Given the description of an element on the screen output the (x, y) to click on. 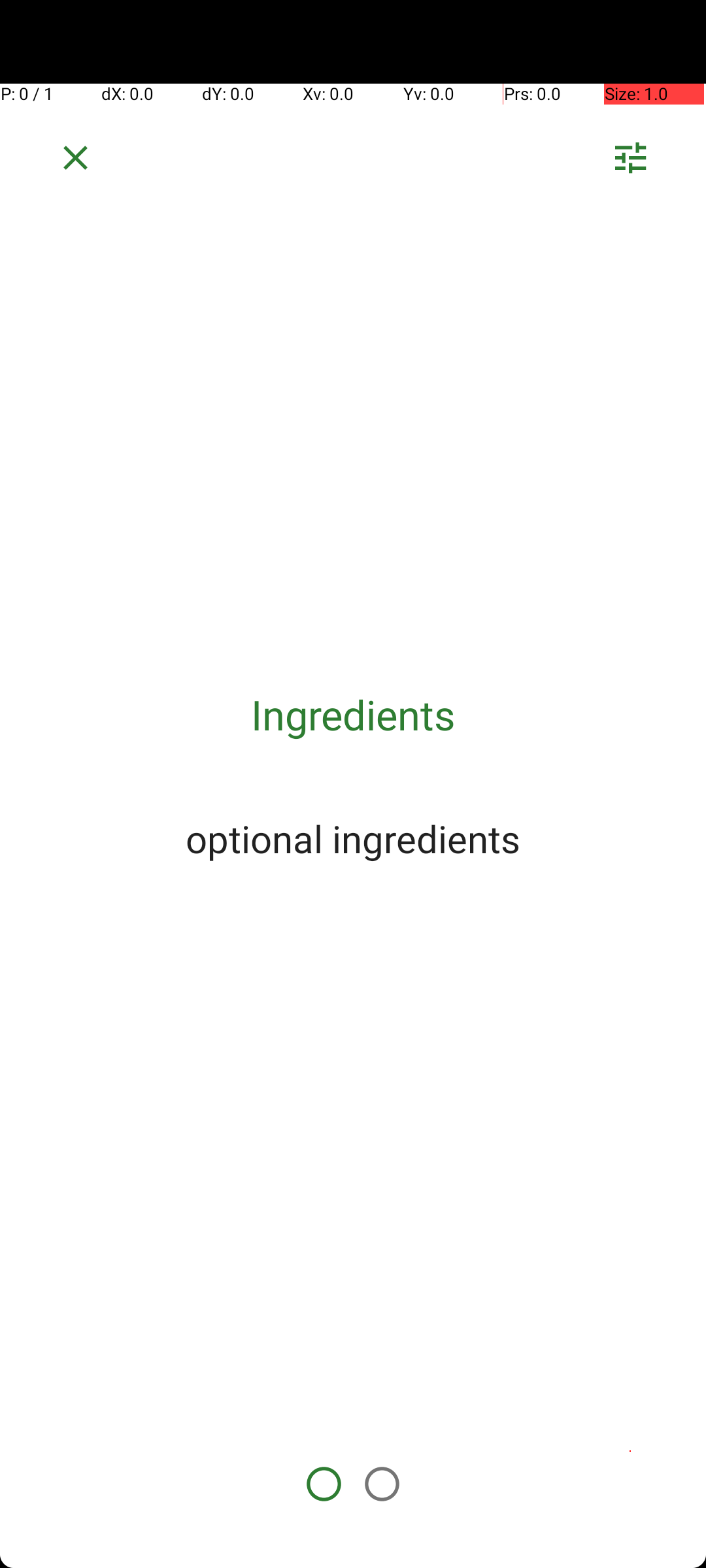
optional ingredients Element type: android.widget.TextView (353, 838)
